Given the description of an element on the screen output the (x, y) to click on. 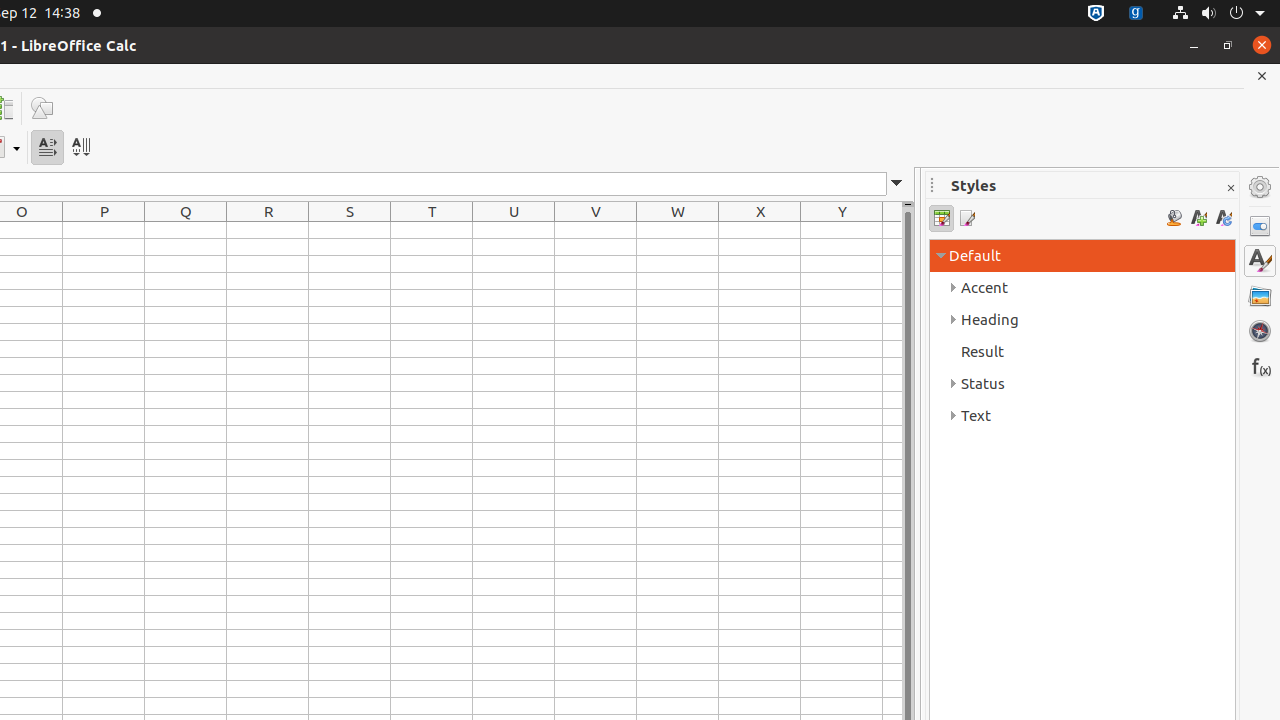
Properties Element type: radio-button (1260, 226)
Expand Formula Bar Element type: push-button (897, 183)
Z1 Element type: table-cell (892, 230)
Cell Styles Element type: push-button (941, 218)
W1 Element type: table-cell (678, 230)
